Given the description of an element on the screen output the (x, y) to click on. 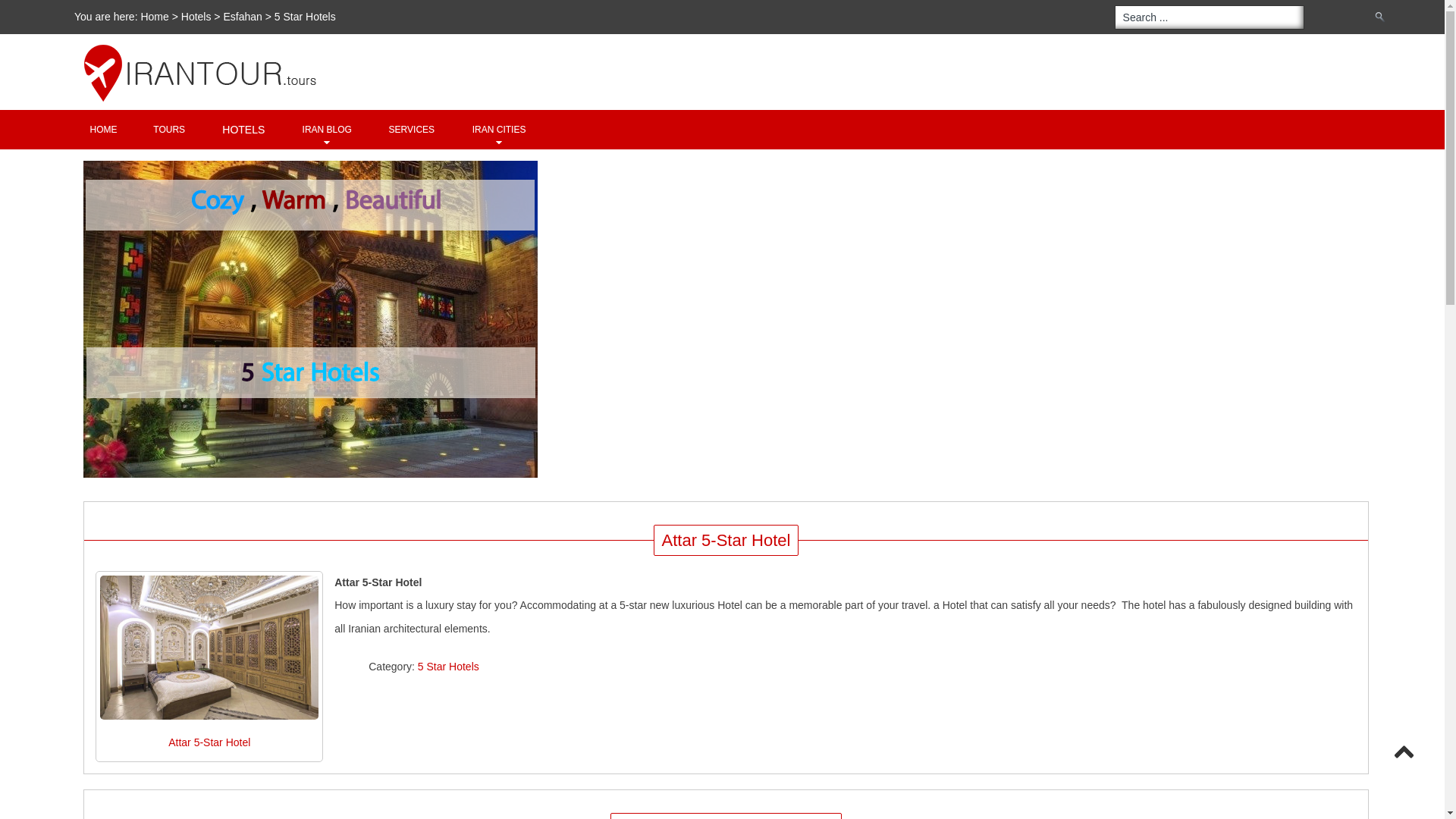
TOURS (168, 129)
SERVICES (411, 129)
Home (103, 129)
HOTELS (242, 129)
irantour.tours (735, 44)
Tours (168, 129)
Attar 5-Star Hotel (209, 647)
IRAN BLOG (326, 129)
IRAN CITIES (498, 129)
Esfahan (243, 16)
Search ... (1209, 16)
Hotels (195, 16)
Home (154, 16)
HOME (103, 129)
